Given the description of an element on the screen output the (x, y) to click on. 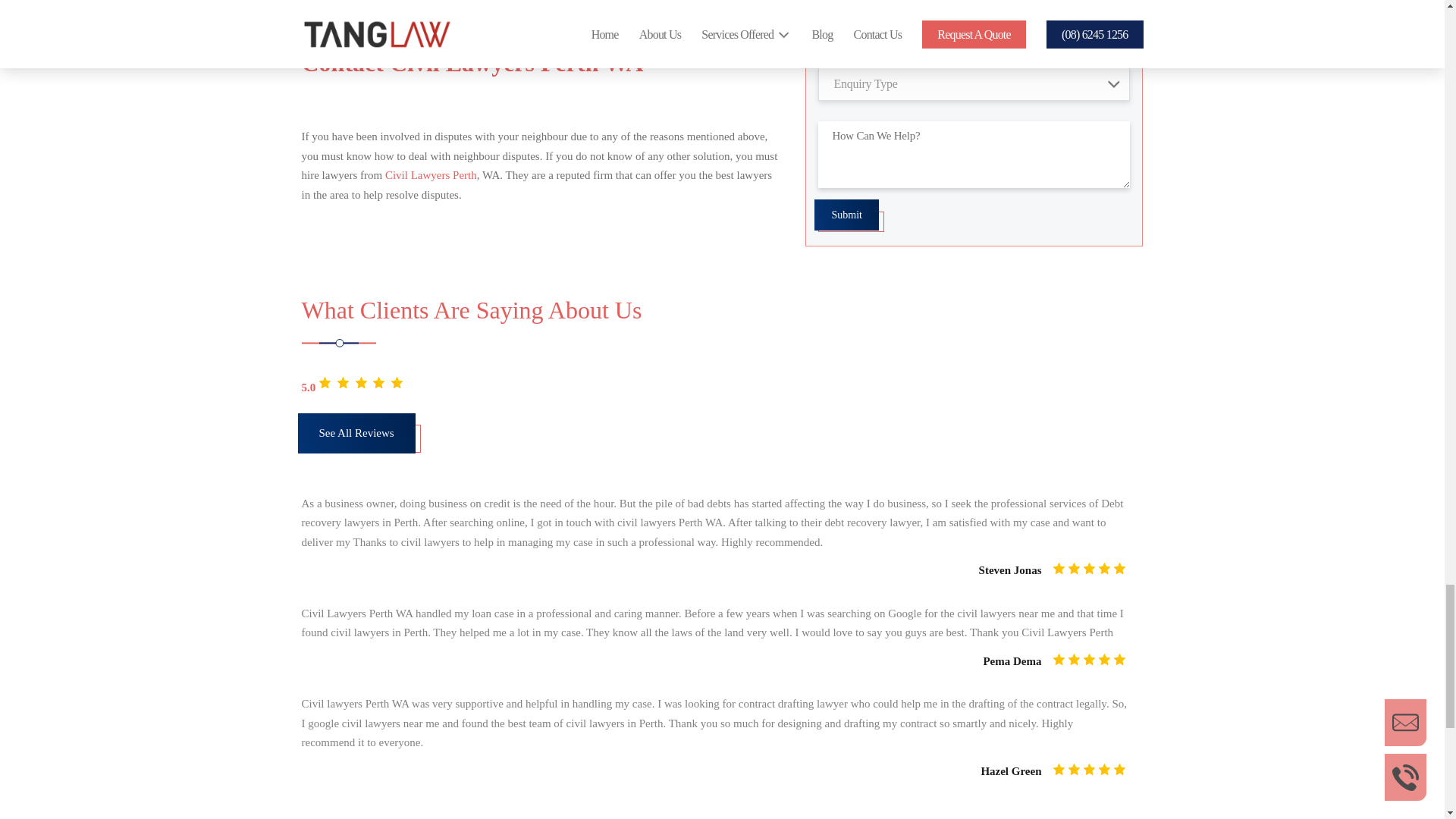
Civil Lawyers Perth (431, 174)
See All Reviews (360, 440)
